Given the description of an element on the screen output the (x, y) to click on. 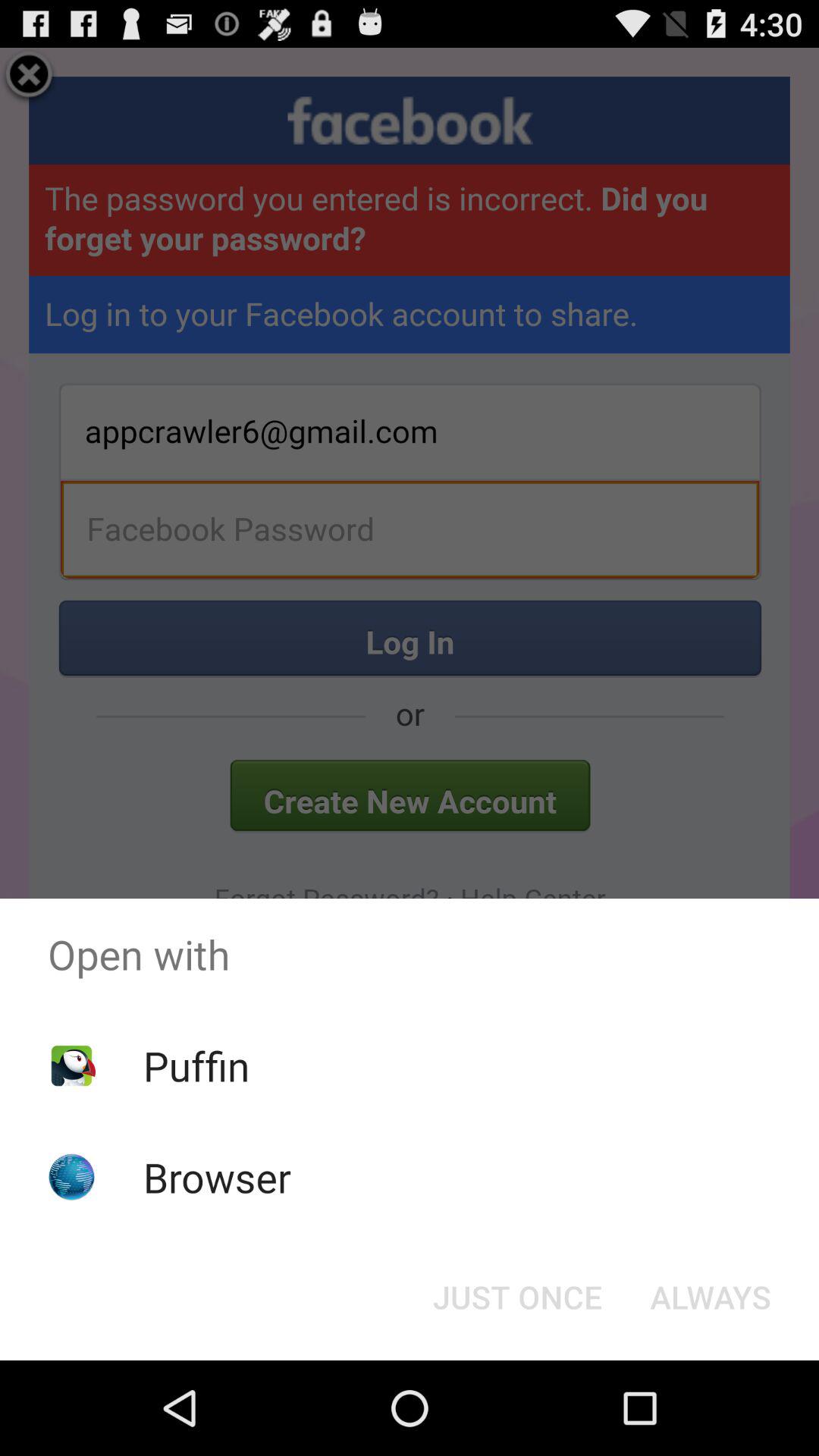
press icon next to the just once (710, 1296)
